Given the description of an element on the screen output the (x, y) to click on. 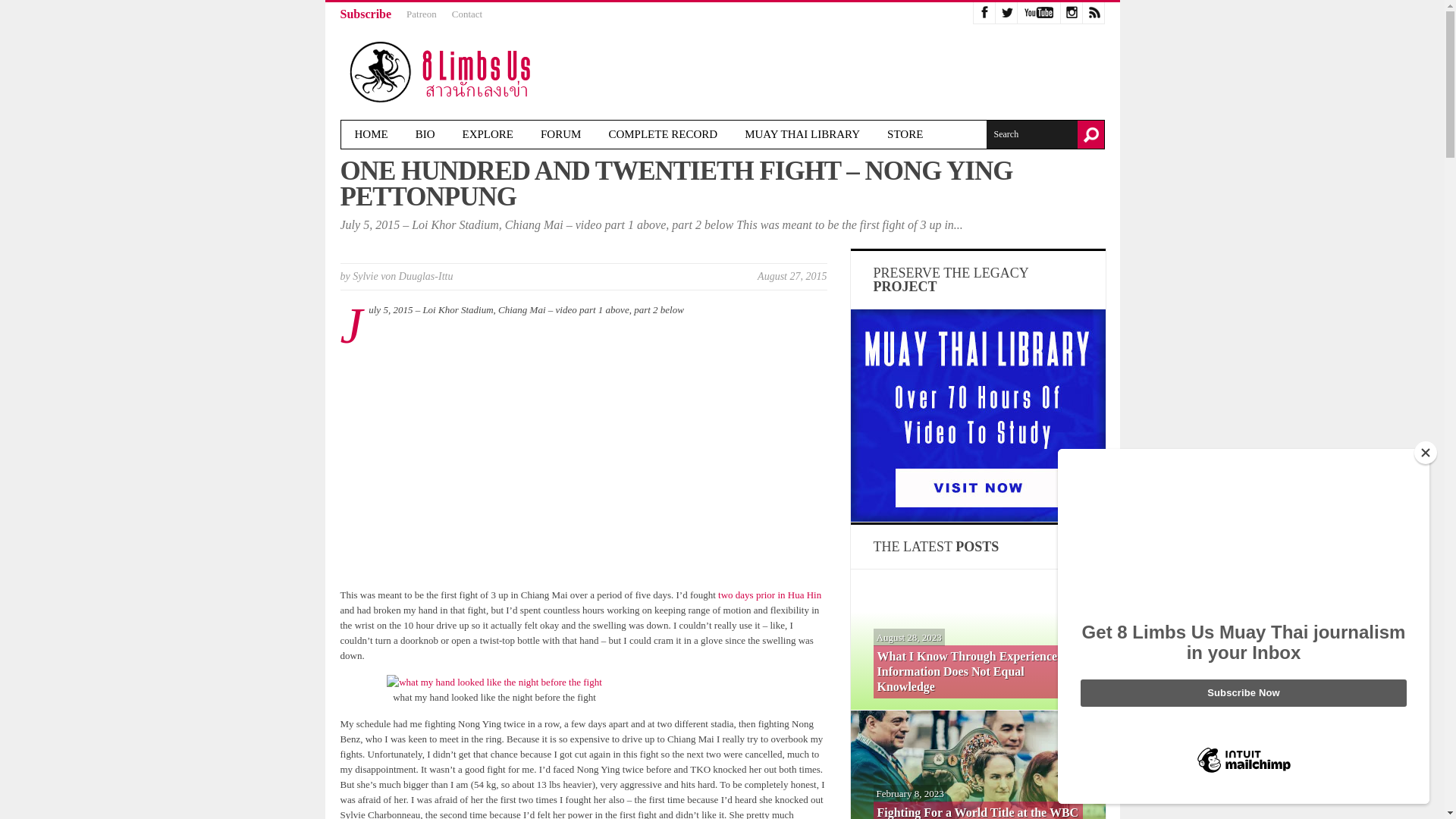
EXPLORE (487, 134)
Patreon (421, 13)
HOME (370, 134)
BIO (424, 134)
Search (1031, 134)
Explore (487, 134)
Sylvie von Duuglas-Ittu (402, 276)
COMPLETE RECORD (662, 134)
Subscribe (365, 13)
STORE (904, 134)
two days prior in Hua Hin (768, 594)
FORUM (560, 134)
Contact (466, 13)
MUAY THAI LIBRARY (801, 134)
